Given the description of an element on the screen output the (x, y) to click on. 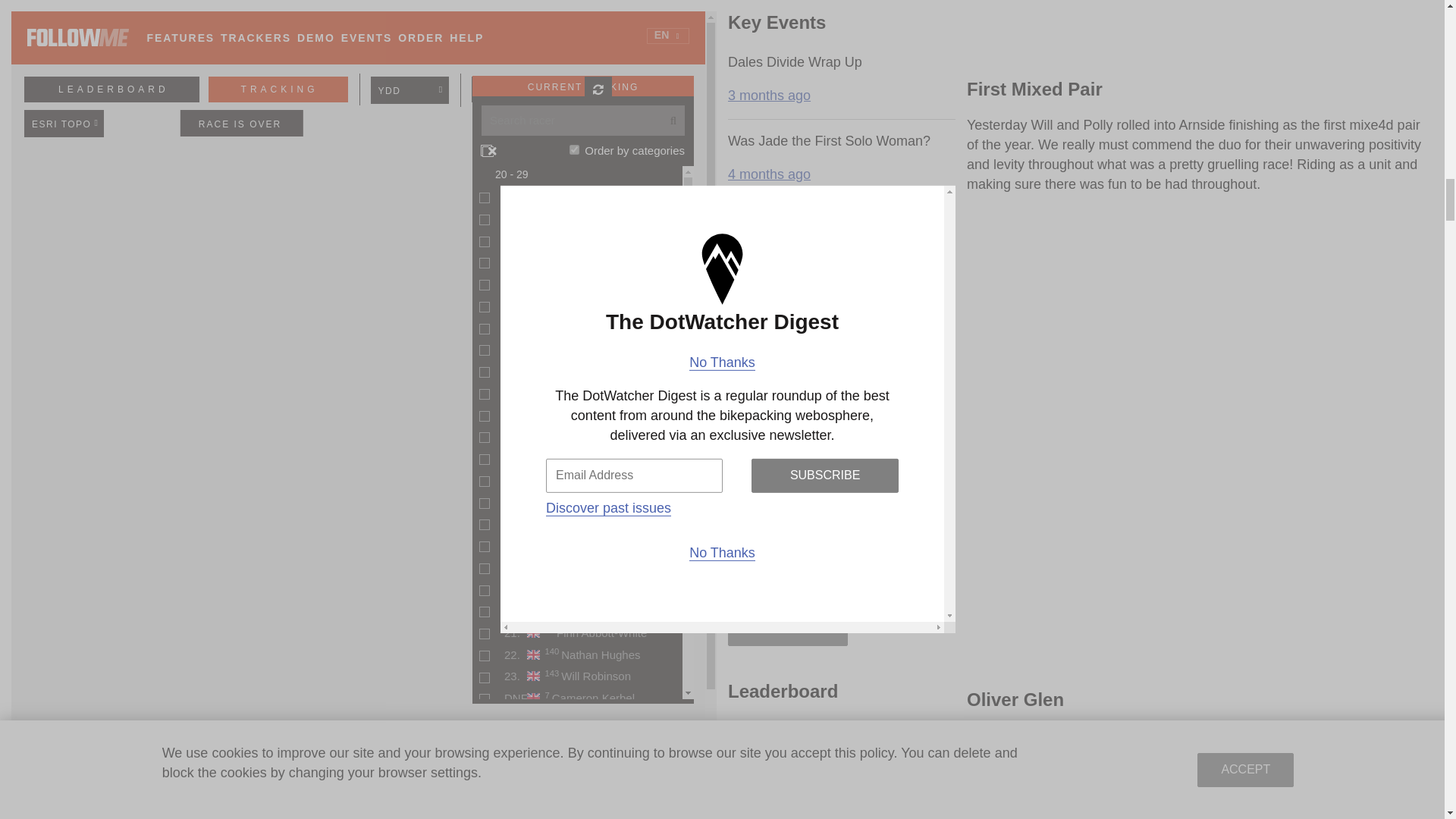
IMG 0734 (1199, 31)
